Given the description of an element on the screen output the (x, y) to click on. 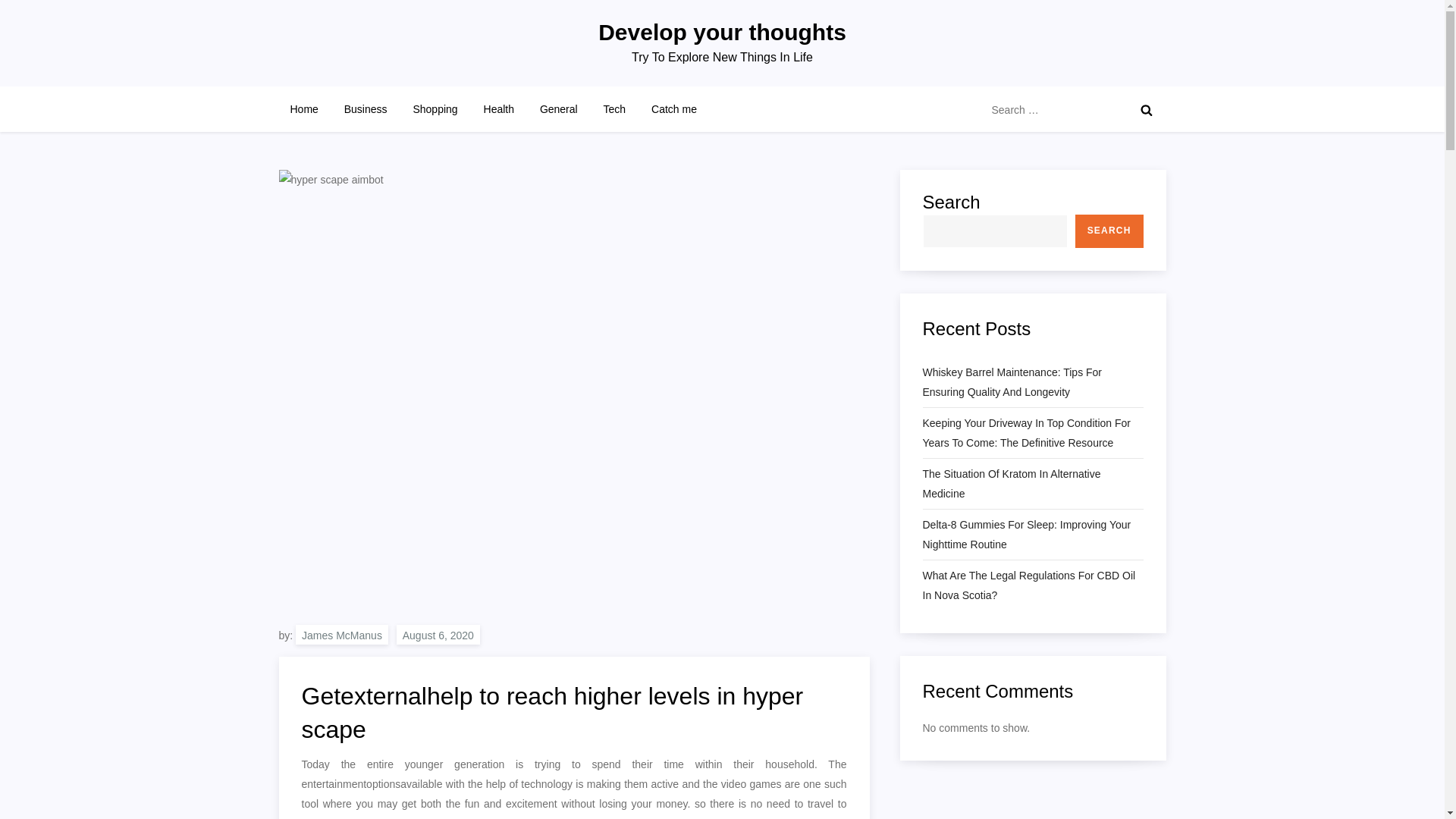
SEARCH (1108, 231)
August 6, 2020 (438, 634)
Tech (614, 108)
Catch me (673, 108)
General (558, 108)
Delta-8 Gummies For Sleep: Improving Your Nighttime Routine (1031, 534)
Business (365, 108)
Home (304, 108)
